Given the description of an element on the screen output the (x, y) to click on. 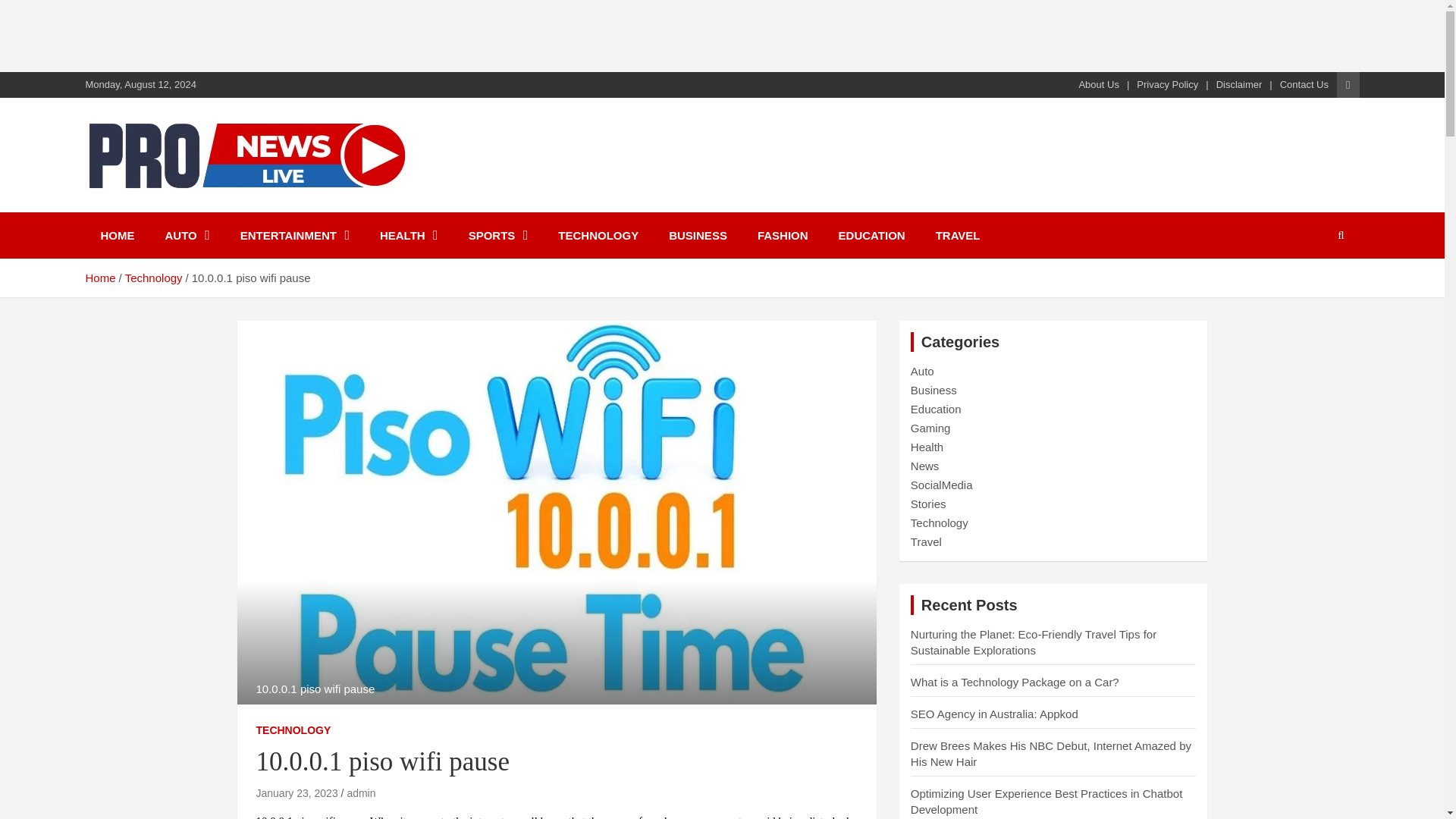
SPORTS (497, 235)
10.0.0.1 piso wifi pause (296, 793)
EDUCATION (872, 235)
ENTERTAINMENT (295, 235)
TRAVEL (957, 235)
Home (99, 277)
Advertisement (275, 33)
Contact Us (1303, 84)
Disclaimer (1238, 84)
HEALTH (408, 235)
